Given the description of an element on the screen output the (x, y) to click on. 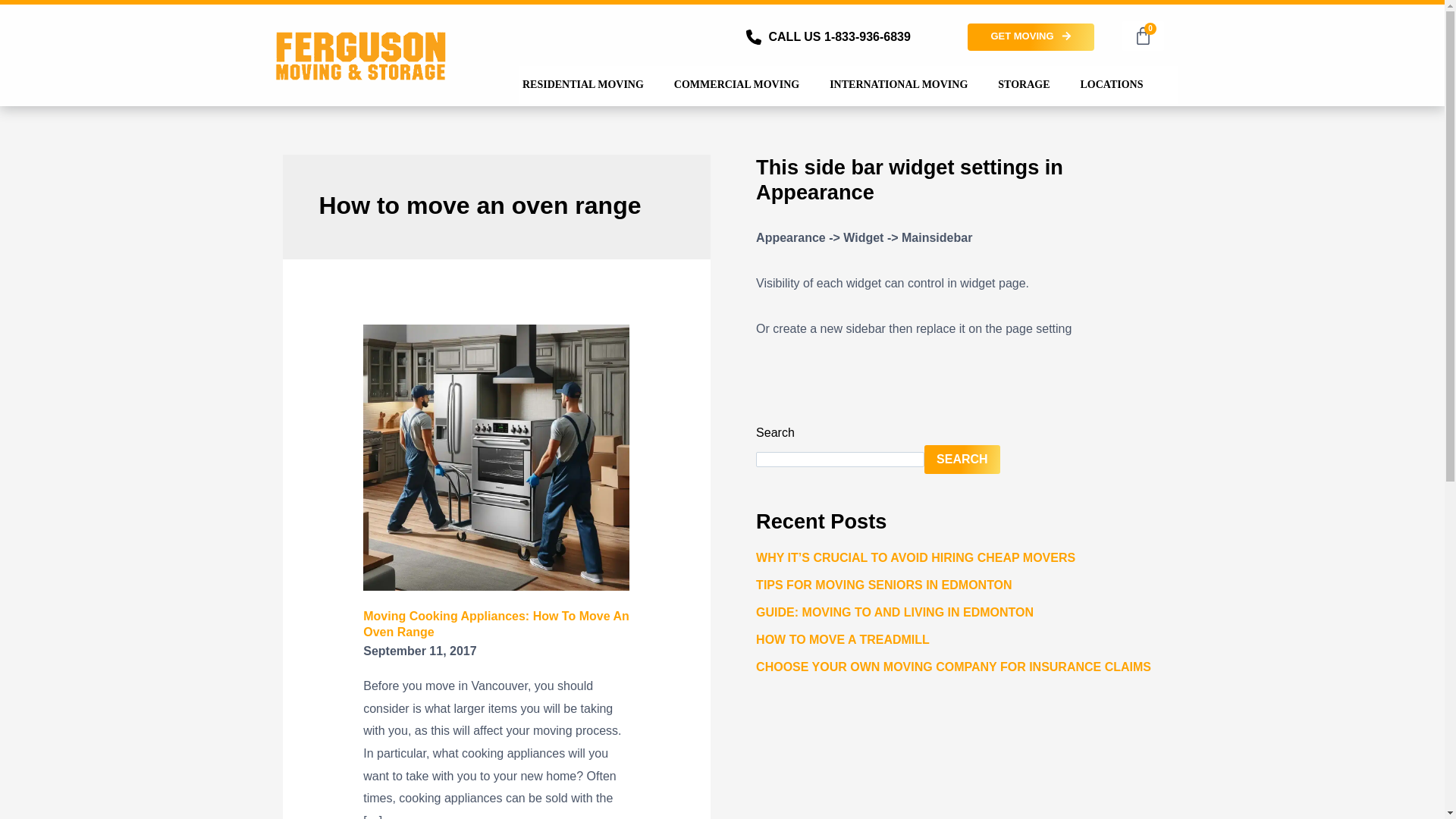
GET MOVING (1030, 36)
INTERNATIONAL MOVING (898, 85)
TIPS FOR MOVING SENIORS IN EDMONTON (883, 584)
RESIDENTIAL MOVING (582, 85)
CHOOSE YOUR OWN MOVING COMPANY FOR INSURANCE CLAIMS (953, 666)
SEARCH (962, 459)
COMMERCIAL MOVING (736, 85)
GUIDE: MOVING TO AND LIVING IN EDMONTON (894, 612)
CALL US 1-833-936-6839 (839, 36)
Moving Cooking Appliances: How To Move An Oven Range (495, 623)
HOW TO MOVE A TREADMILL (1142, 35)
LOCATIONS (842, 639)
STORAGE (1111, 85)
